Given the description of an element on the screen output the (x, y) to click on. 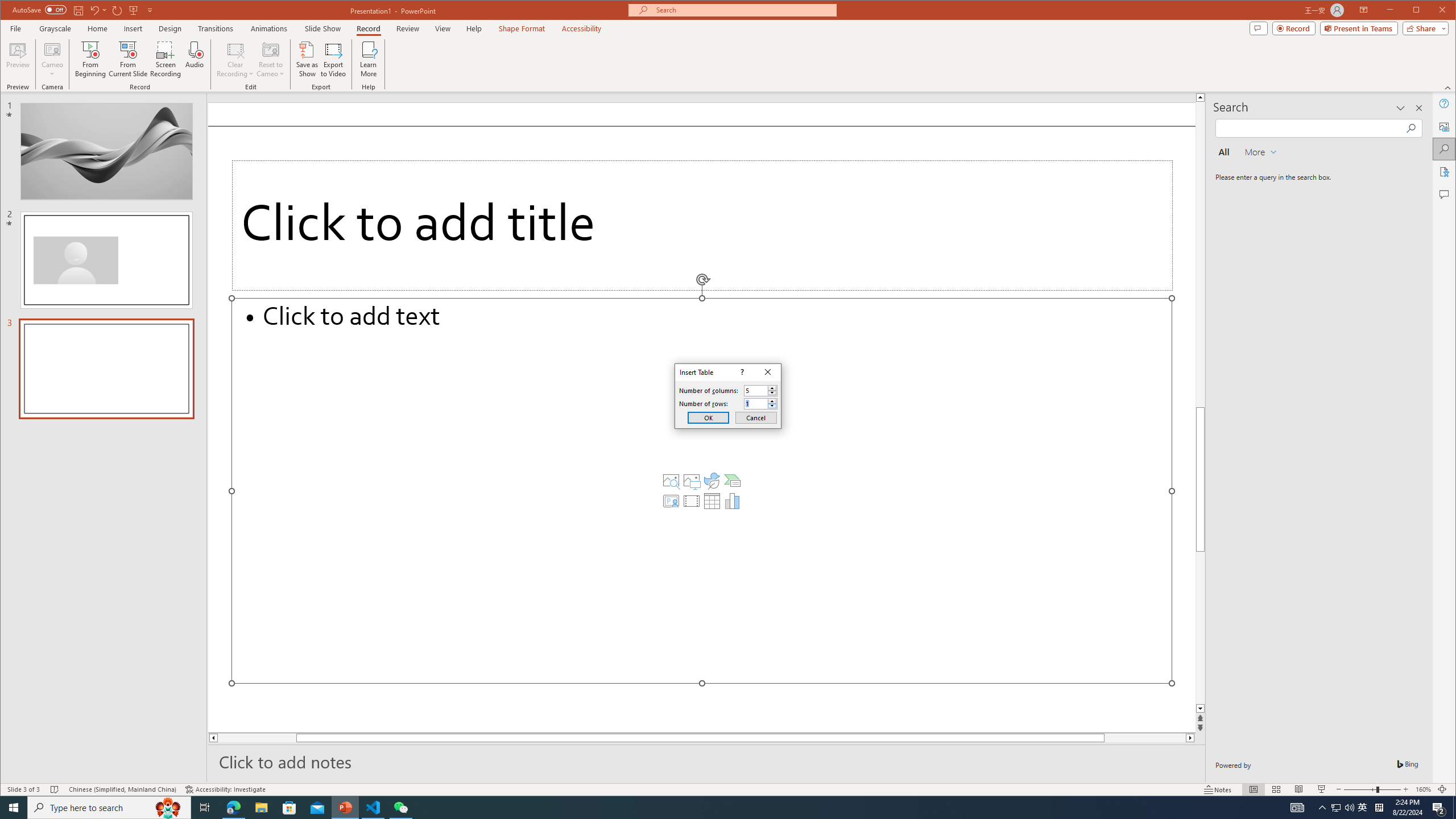
Number of columns (760, 390)
